Given the description of an element on the screen output the (x, y) to click on. 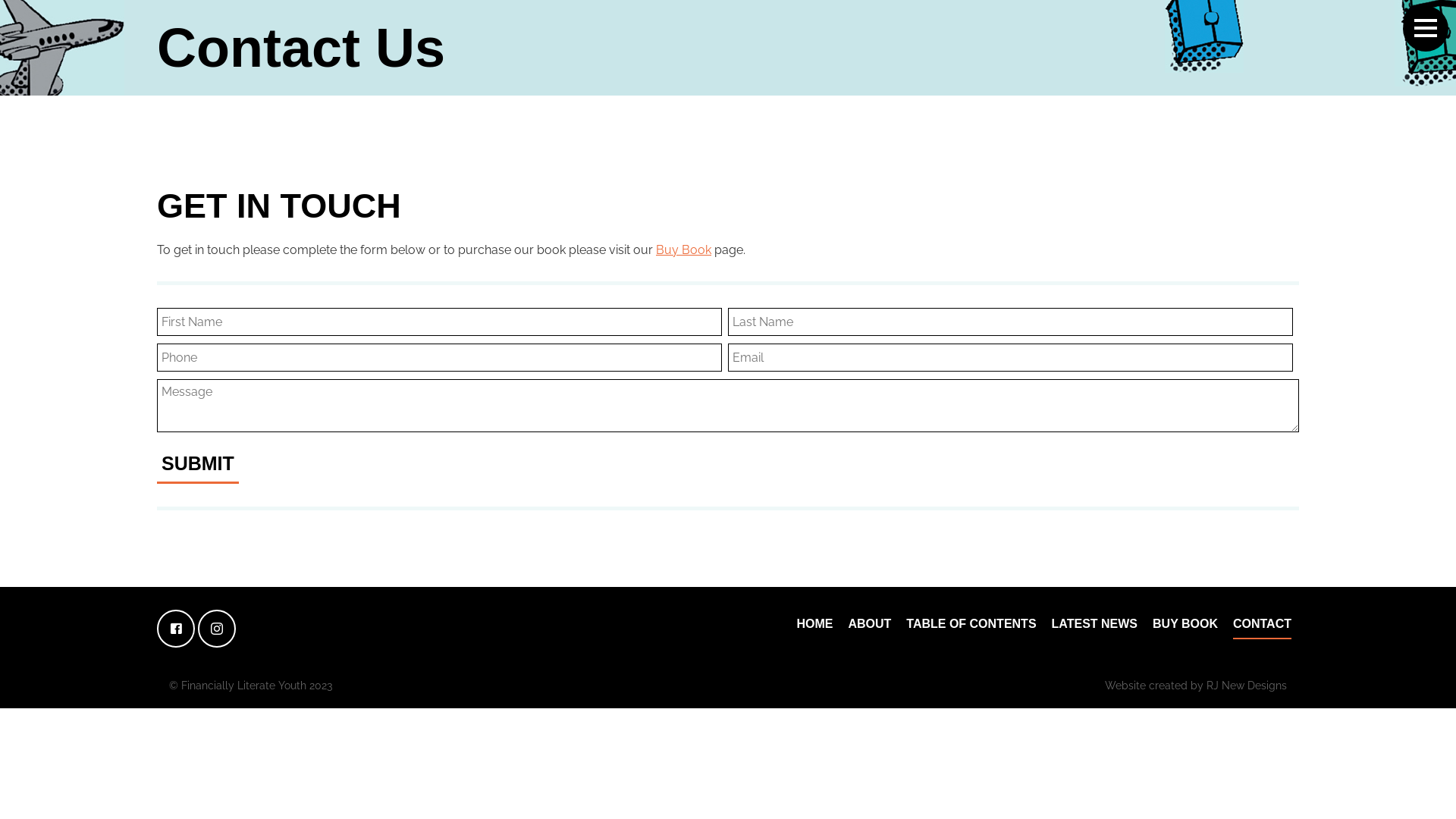
ABOUT Element type: text (869, 624)
LATEST NEWS Element type: text (1094, 624)
RJ New Designs Element type: text (1246, 685)
Buy Book Element type: text (683, 249)
HOME Element type: text (814, 624)
Submit Element type: text (197, 464)
TABLE OF CONTENTS Element type: text (970, 624)
BUY BOOK Element type: text (1184, 624)
CONTACT Element type: text (1262, 624)
